Given the description of an element on the screen output the (x, y) to click on. 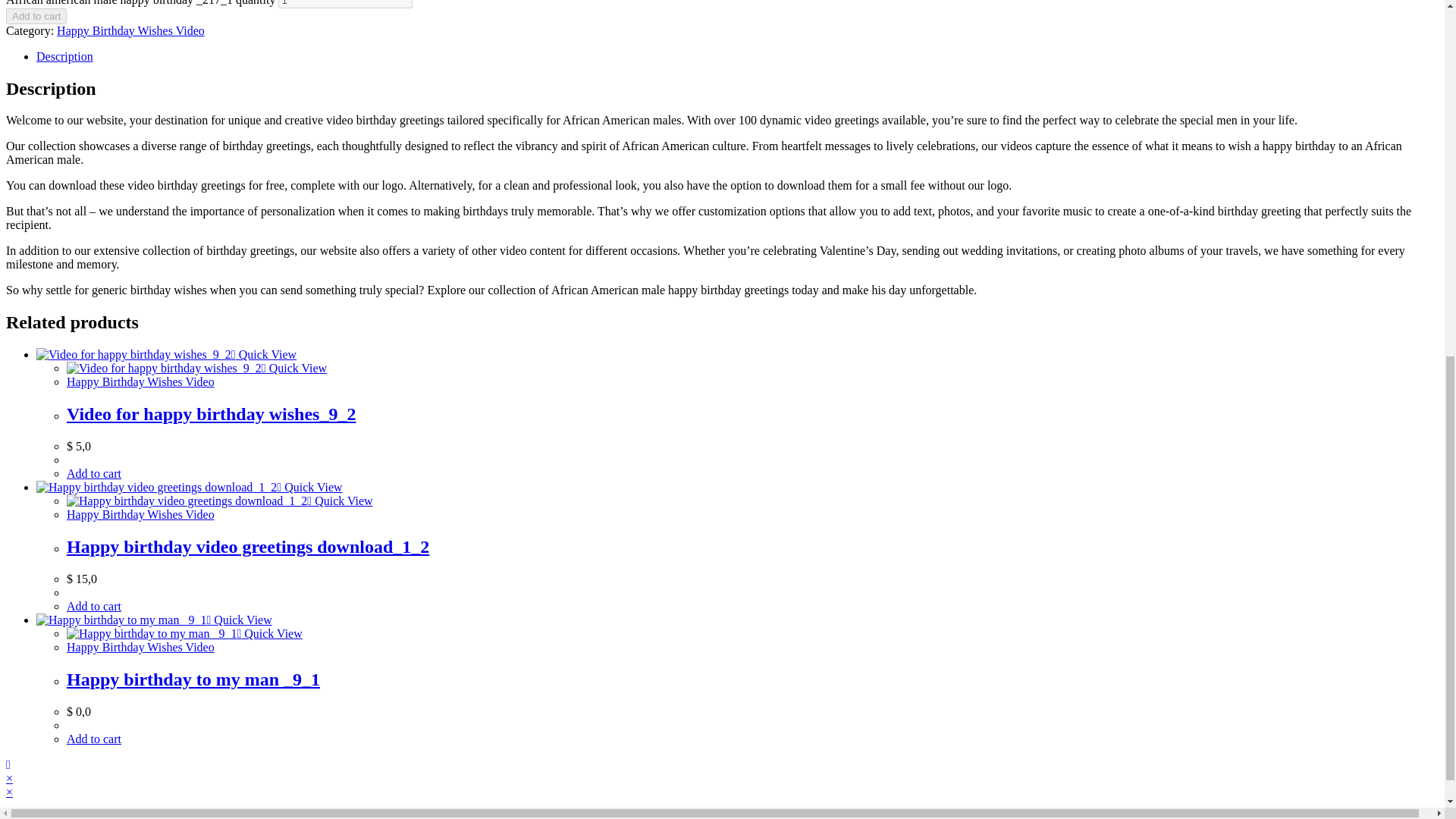
Quick View (238, 619)
1 (345, 4)
Happy Birthday Wishes Video (140, 381)
Quick View (264, 354)
Happy Birthday Wishes Video (130, 30)
Quick View (294, 367)
Add to cart (93, 605)
Quick View (339, 500)
Happy Birthday Wishes Video (140, 646)
Add to cart (35, 16)
